Given the description of an element on the screen output the (x, y) to click on. 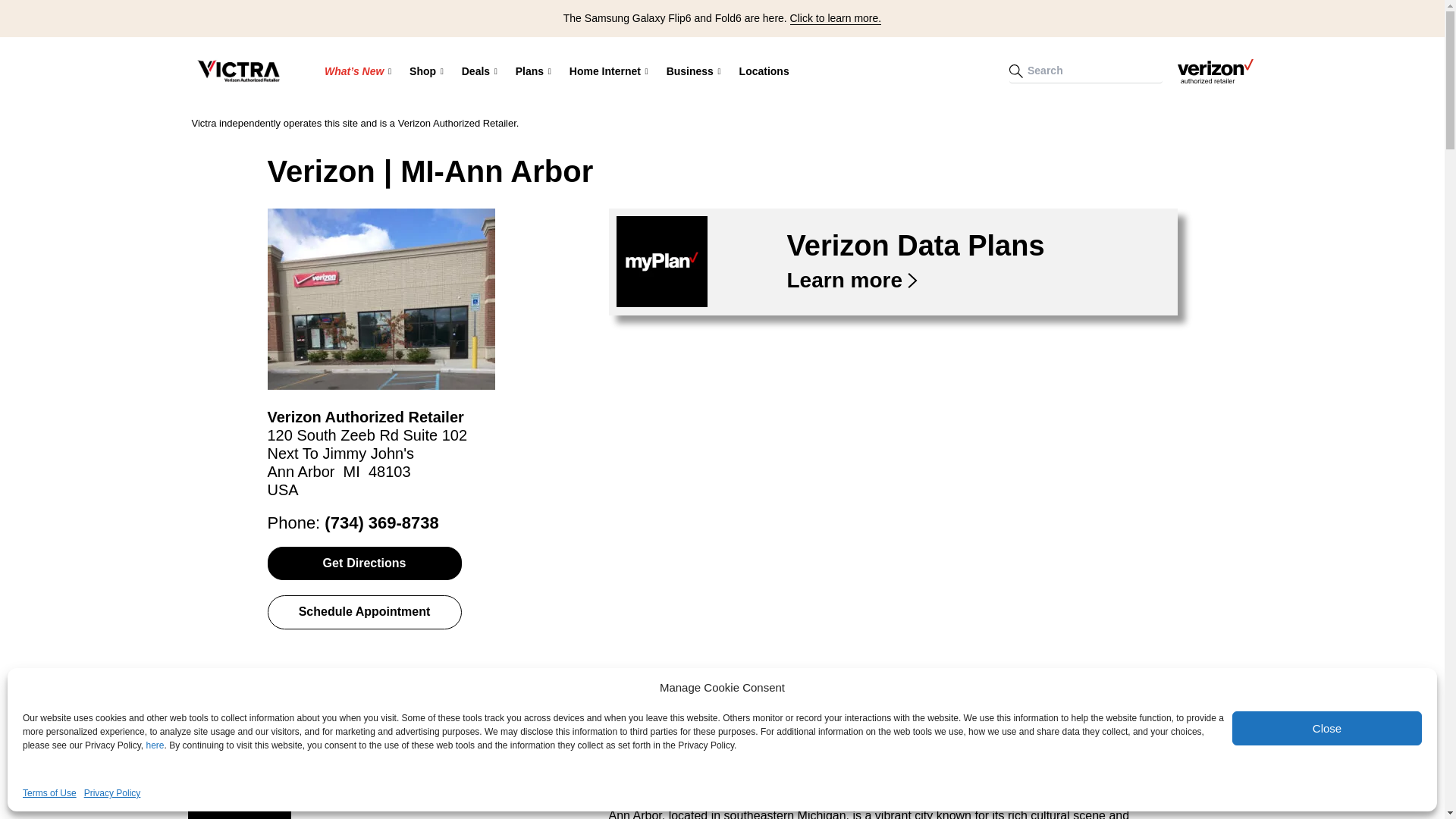
here (155, 745)
Accessories (561, 121)
Deals (479, 70)
Apple (561, 122)
All Devices (510, 121)
Click to learn more. (836, 18)
Apple iPhone 15 Series (424, 121)
Privacy Policy (112, 793)
Apple (510, 122)
Terms of Use (50, 793)
Plans (533, 70)
Close (1326, 728)
Mobile (615, 122)
Shop (426, 70)
